Given the description of an element on the screen output the (x, y) to click on. 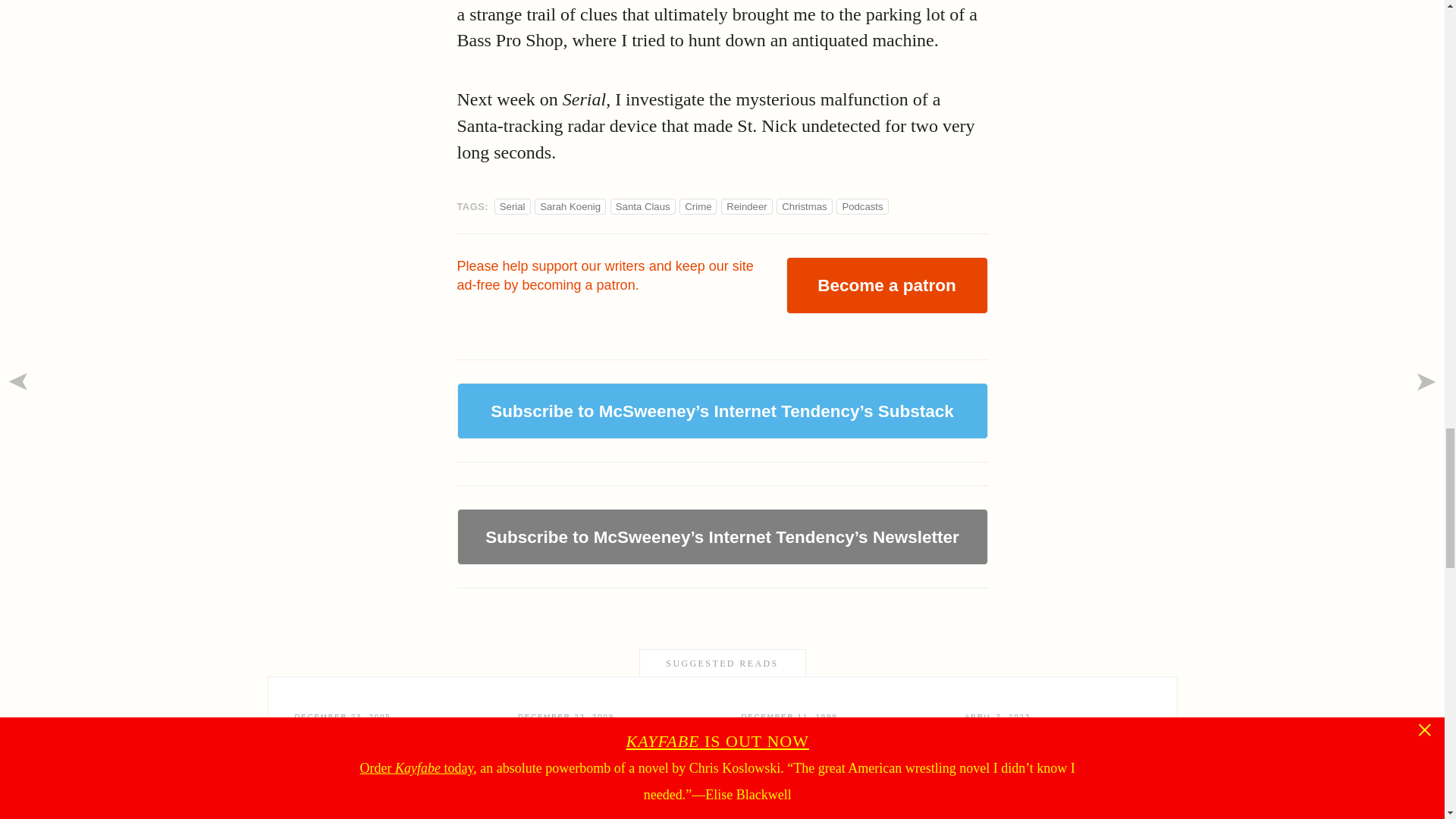
Reindeer (746, 206)
Serial (512, 206)
Crime (697, 206)
Podcasts (861, 206)
Sarah Koenig (569, 206)
Santa Claus (834, 746)
Become a patron (642, 206)
